Given the description of an element on the screen output the (x, y) to click on. 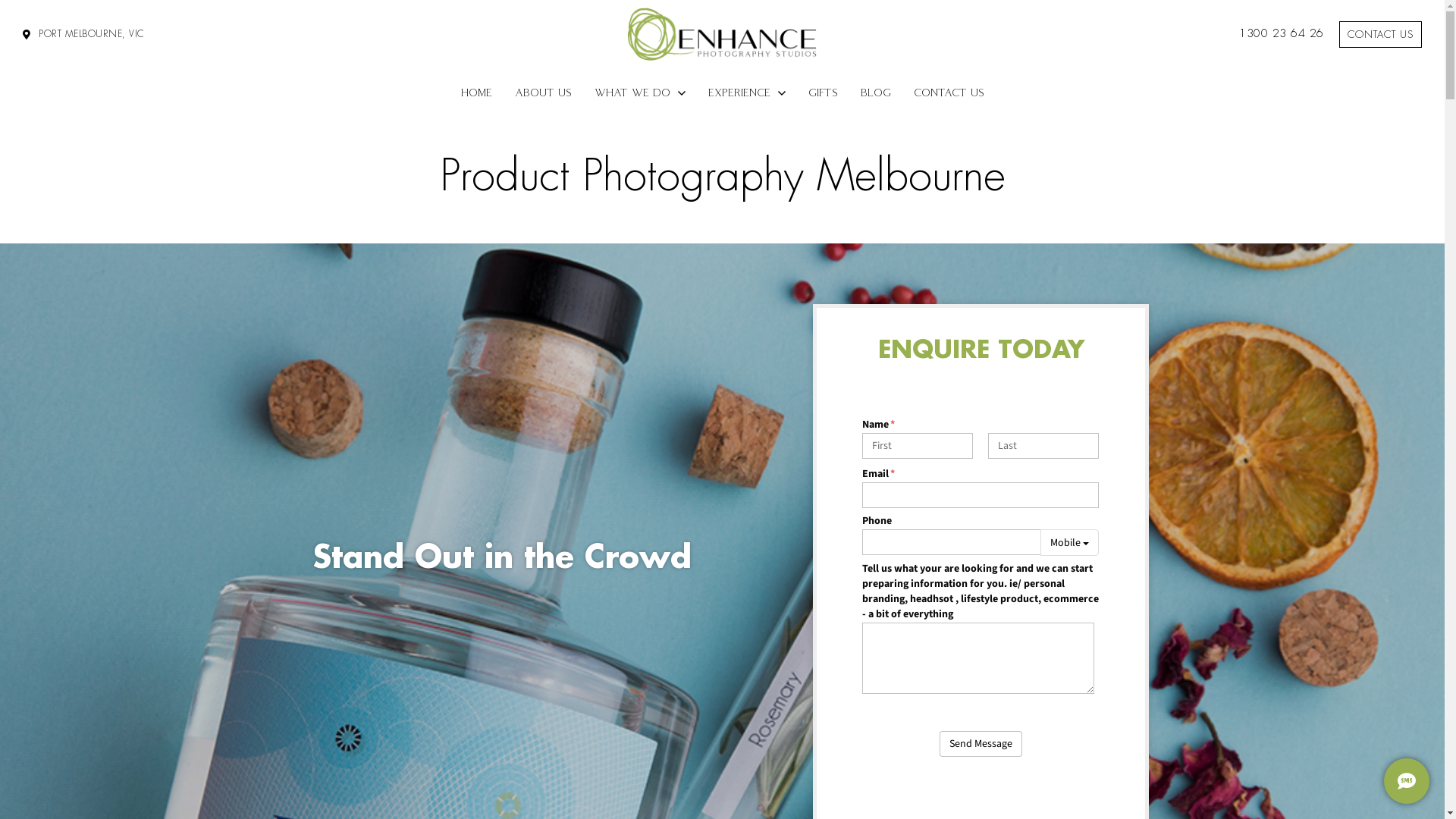
ABOUT US Element type: text (543, 92)
BLOG Element type: text (875, 92)
CONTACT US Element type: text (948, 92)
1300 23 64 26 Element type: text (1281, 34)
GIFTS Element type: text (822, 92)
CONTACT US Element type: text (1380, 34)
HOME Element type: text (475, 92)
EXPERIENCE Element type: text (746, 92)
WHAT WE DO Element type: text (639, 92)
